Given the description of an element on the screen output the (x, y) to click on. 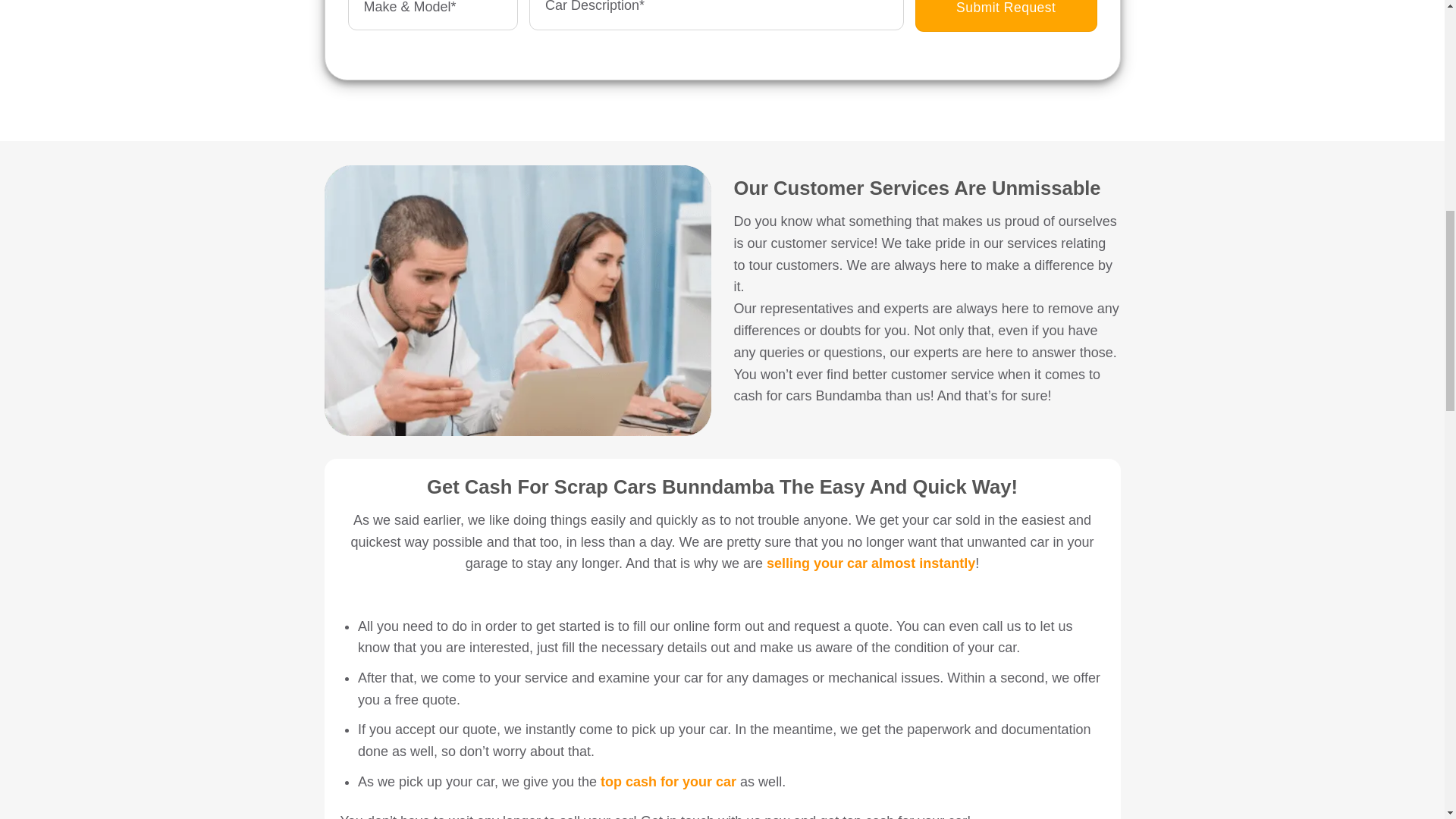
selling your car almost instantly (871, 563)
Submit Request (1006, 15)
Submit Request (1006, 15)
